Given the description of an element on the screen output the (x, y) to click on. 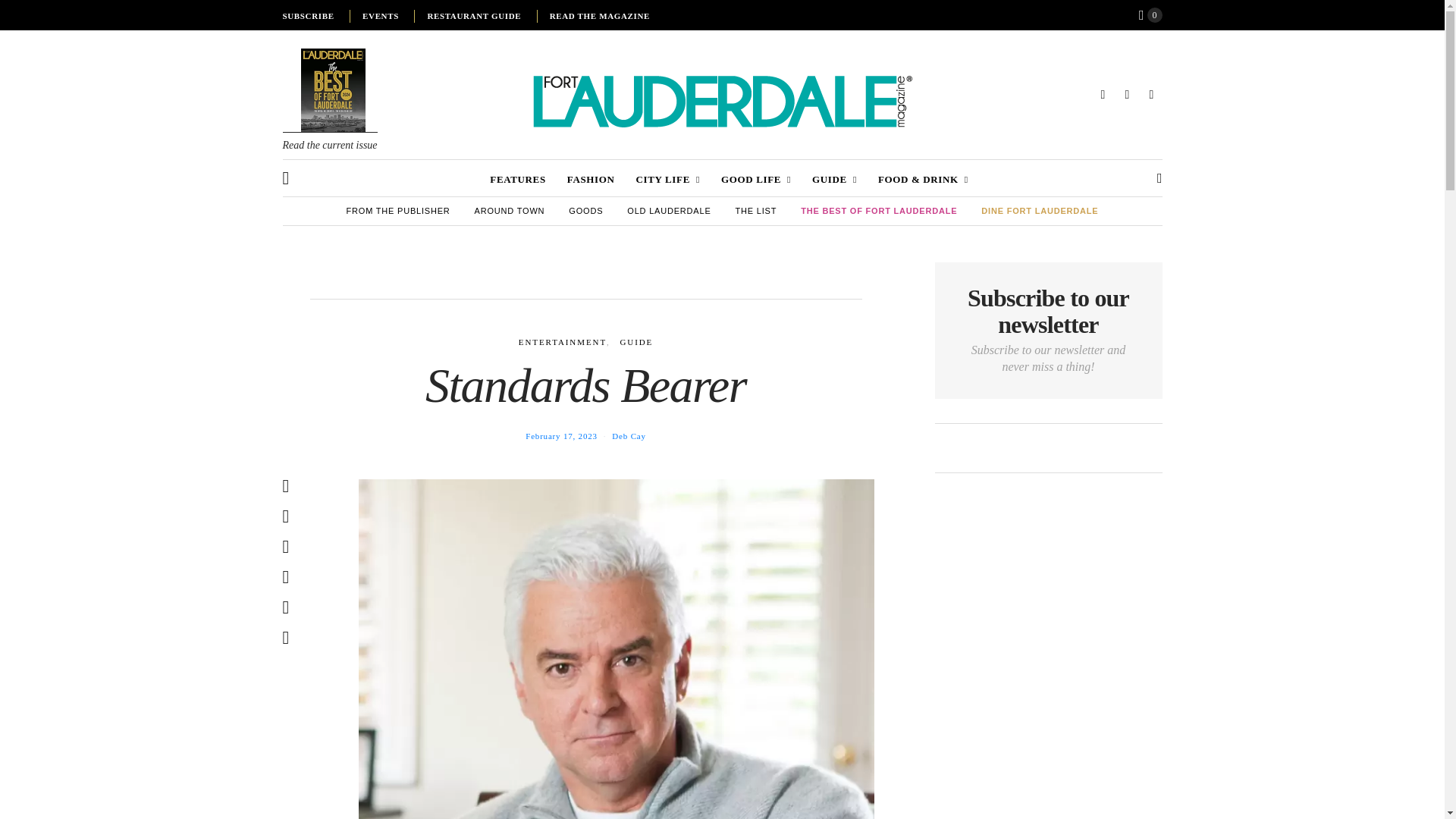
0 (1149, 14)
View all posts by Deb Cay (628, 435)
View your shopping cart (1149, 14)
EVENTS (380, 15)
SUBSCRIBE (307, 15)
READ THE MAGAZINE (599, 15)
RESTAURANT GUIDE (473, 15)
